Given the description of an element on the screen output the (x, y) to click on. 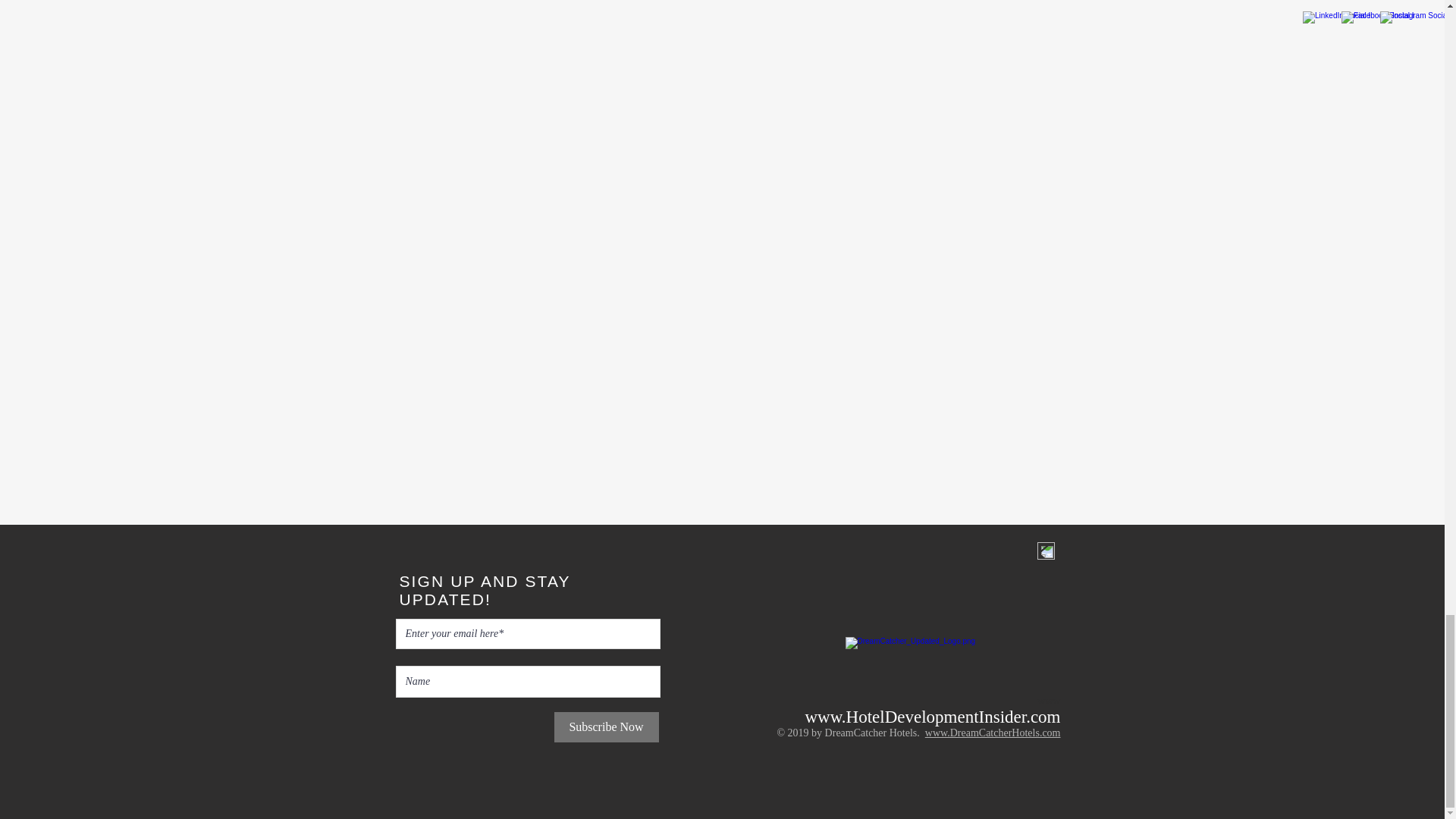
www.HotelDevelopmentInsider.com (932, 716)
Subscribe Now (605, 726)
www.DreamCatcherHotels.com (992, 732)
